Given the description of an element on the screen output the (x, y) to click on. 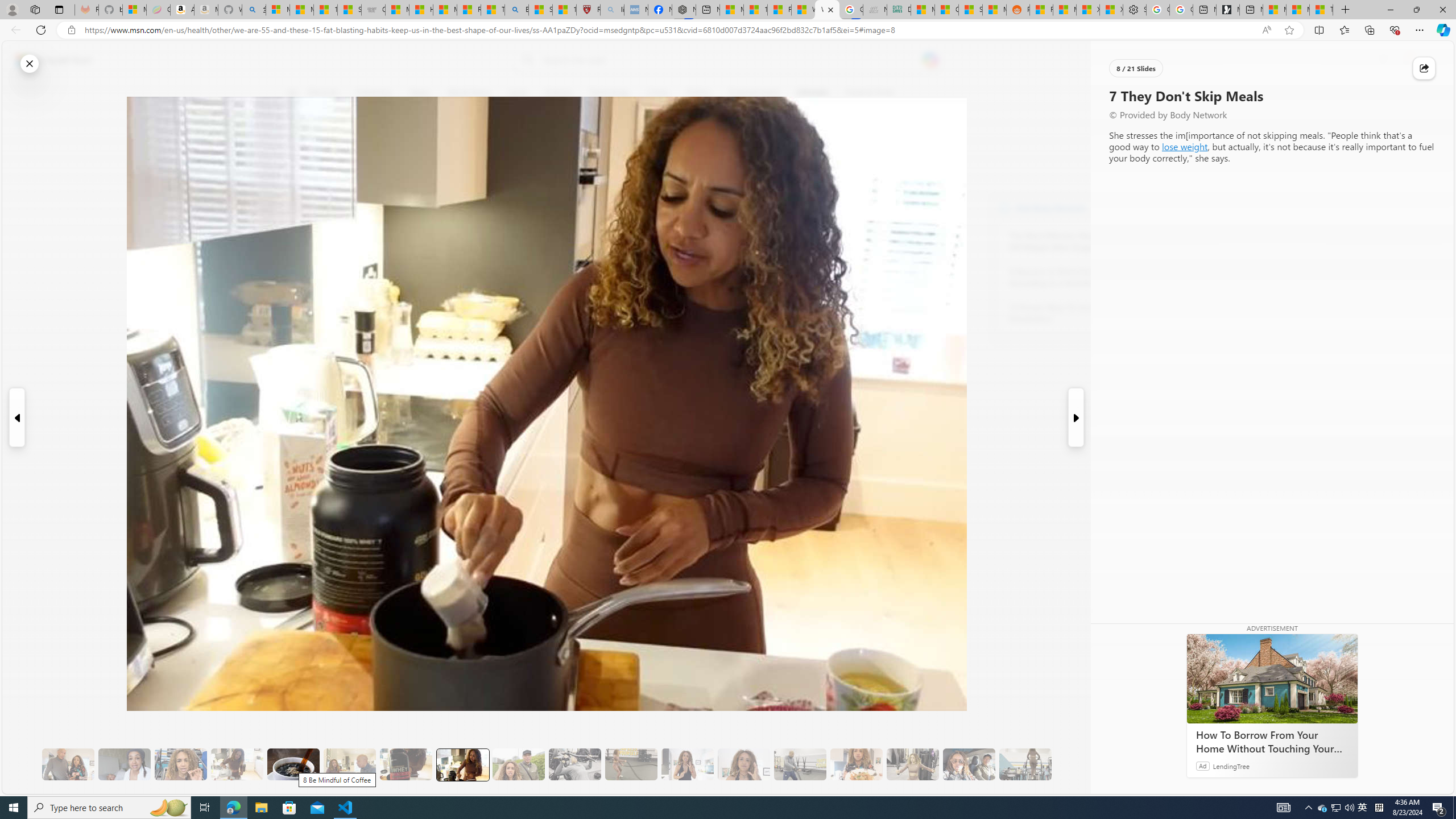
list of asthma inhalers uk - Search - Sleeping (611, 9)
9 They Do Bench Exercises (574, 764)
News (419, 92)
App bar (728, 29)
Class: button-glyph (292, 92)
12 Proven Ways To Increase Your Metabolism (1071, 313)
Body Network (1004, 207)
Lifestyle (812, 92)
8 They Walk to the Gym (518, 764)
Navy Quest (874, 9)
Politics (697, 92)
Settings (1134, 9)
Following (373, 92)
